Given the description of an element on the screen output the (x, y) to click on. 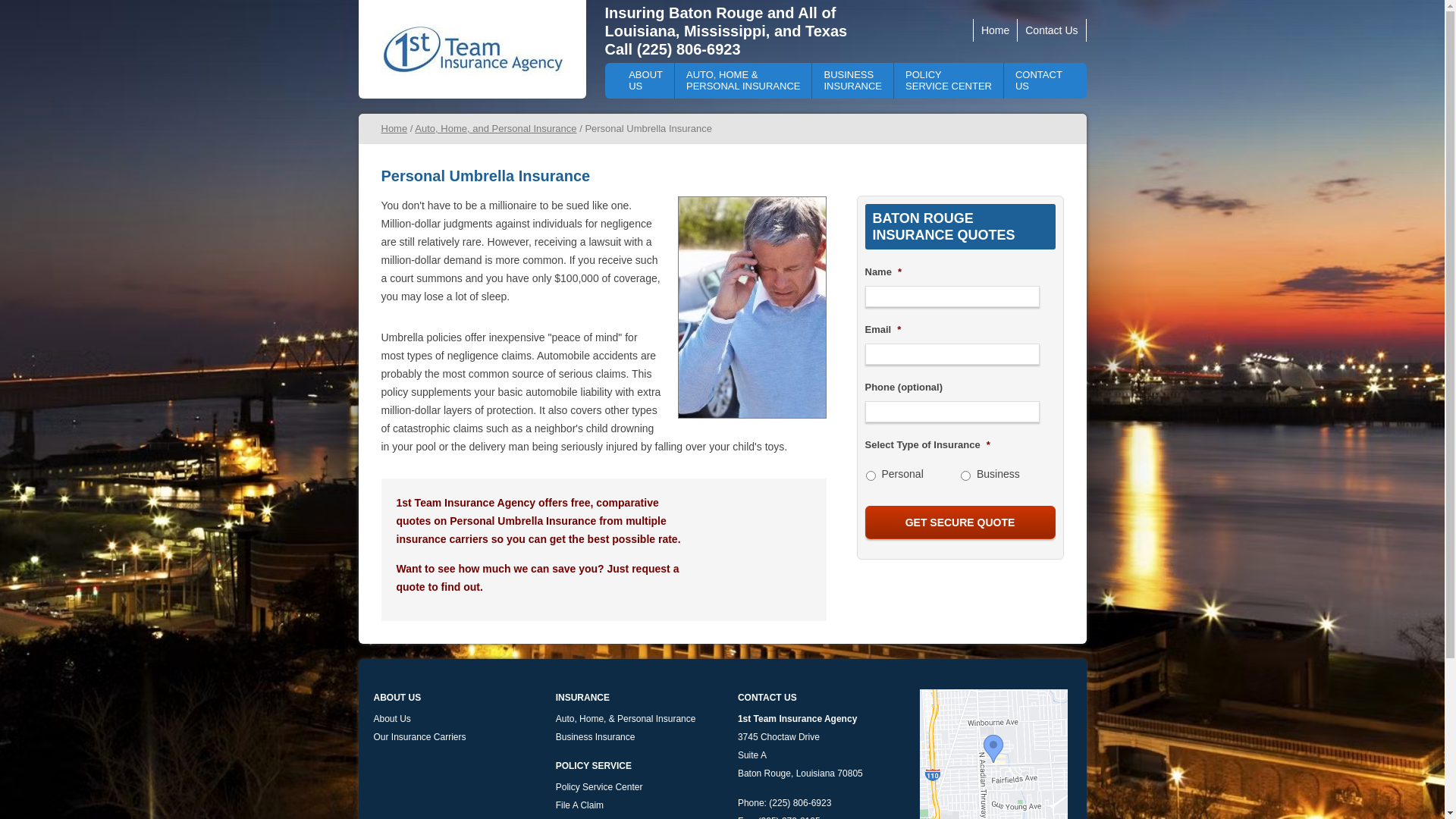
Contact Us Element type: text (1051, 29)
Home Element type: text (994, 29)
Policy Service Center Element type: text (599, 786)
Get Secure Quote Element type: text (959, 522)
Home Element type: text (393, 128)
Auto, Home, and Personal Insurance Element type: text (495, 128)
File A Claim Element type: text (579, 805)
Our Insurance Carriers Element type: text (419, 736)
Auto, Home, & Personal Insurance Element type: text (625, 718)
Business Insurance Element type: text (595, 736)
About Us Element type: text (391, 718)
